Given the description of an element on the screen output the (x, y) to click on. 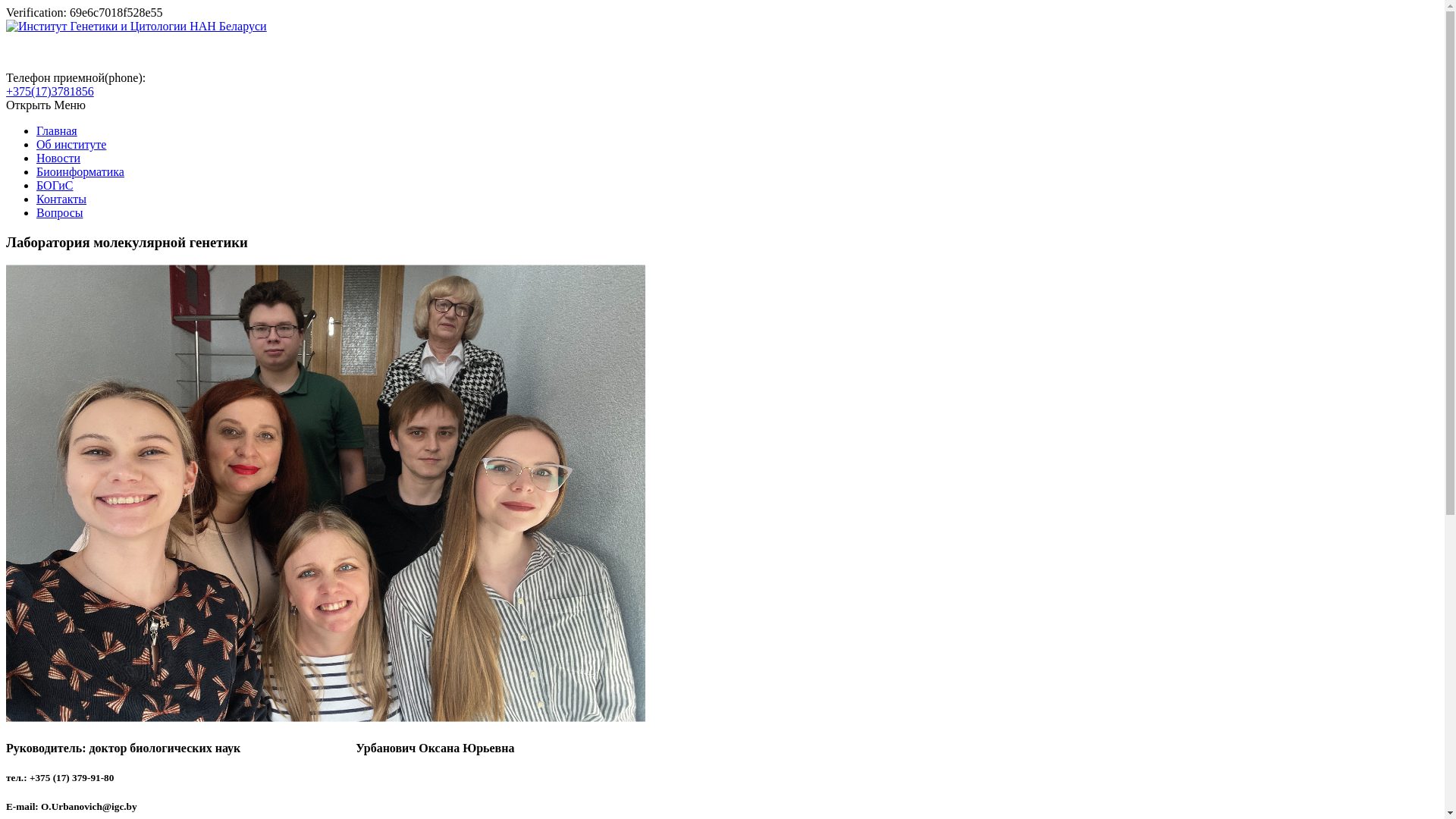
+375(17)3781856 Element type: text (50, 90)
